Given the description of an element on the screen output the (x, y) to click on. 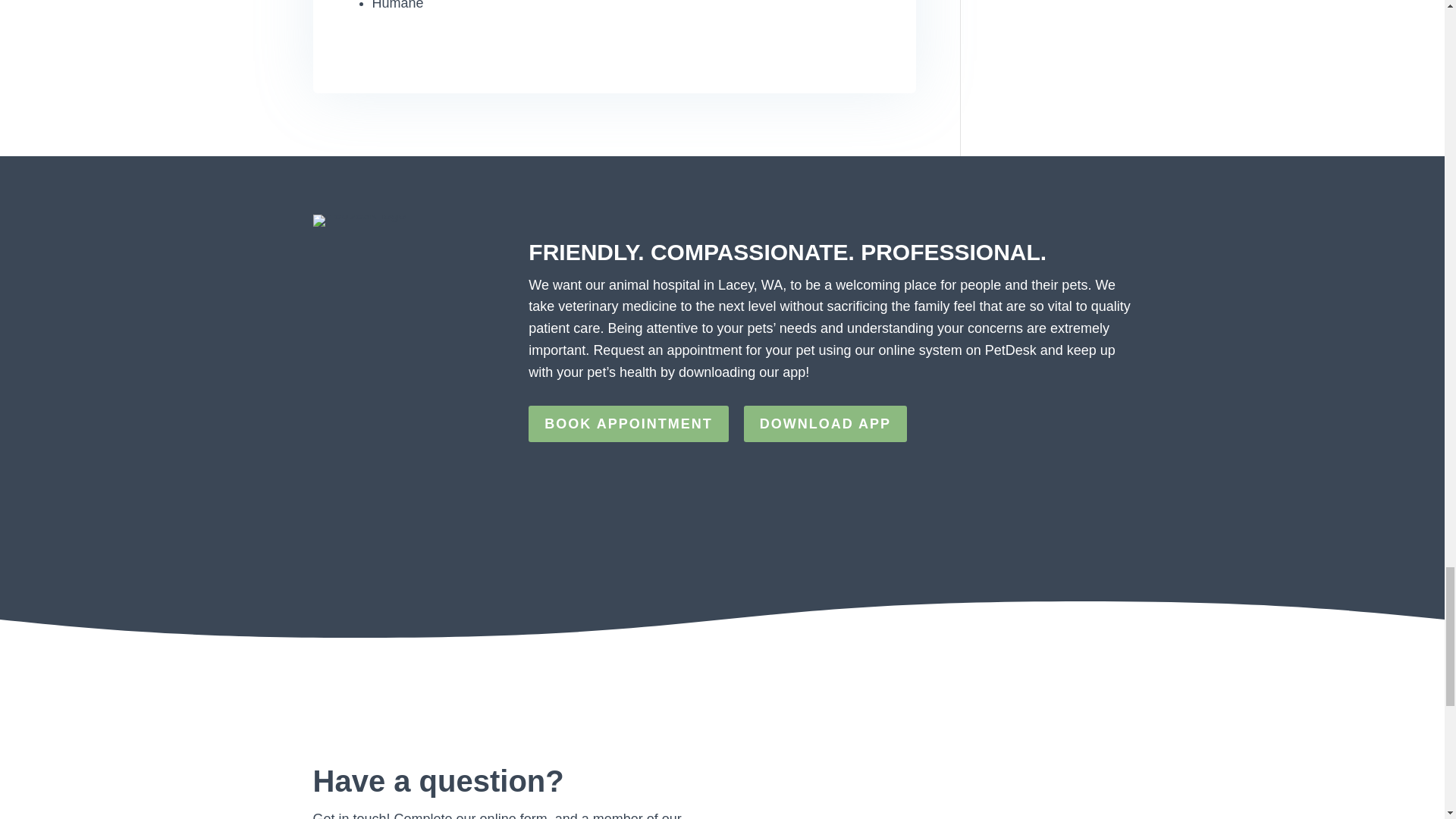
PetDesk-app-splash-logo (359, 220)
DOWNLOAD APP (825, 423)
BOOK APPOINTMENT (628, 423)
